Given the description of an element on the screen output the (x, y) to click on. 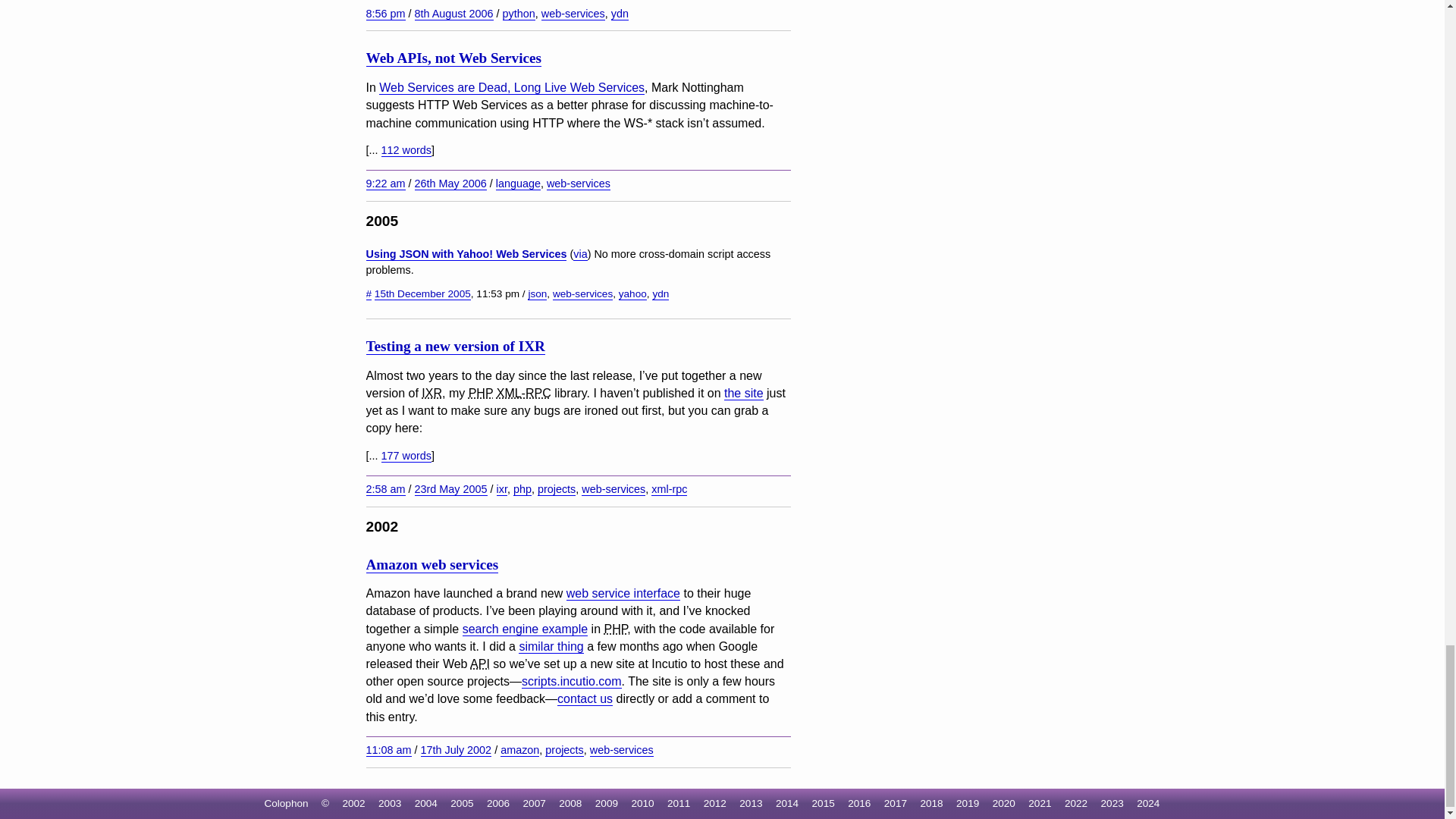
PHP: Hypertext Preprocessor (615, 628)
Jeffrey McManus (579, 254)
 Accessing the Google Web API via PHP (550, 646)
PHP: Hypertext Preprocessor (480, 392)
Contact Incutio (584, 698)
The Incutio XML-RPC Library (742, 393)
Permalink for "Web APIs, not Web Services" (384, 183)
PHP Amazon Search (525, 629)
Permalink for "Testing a new version of IXR" (384, 489)
Incutio XML-RPC Library (432, 392)
